Given the description of an element on the screen output the (x, y) to click on. 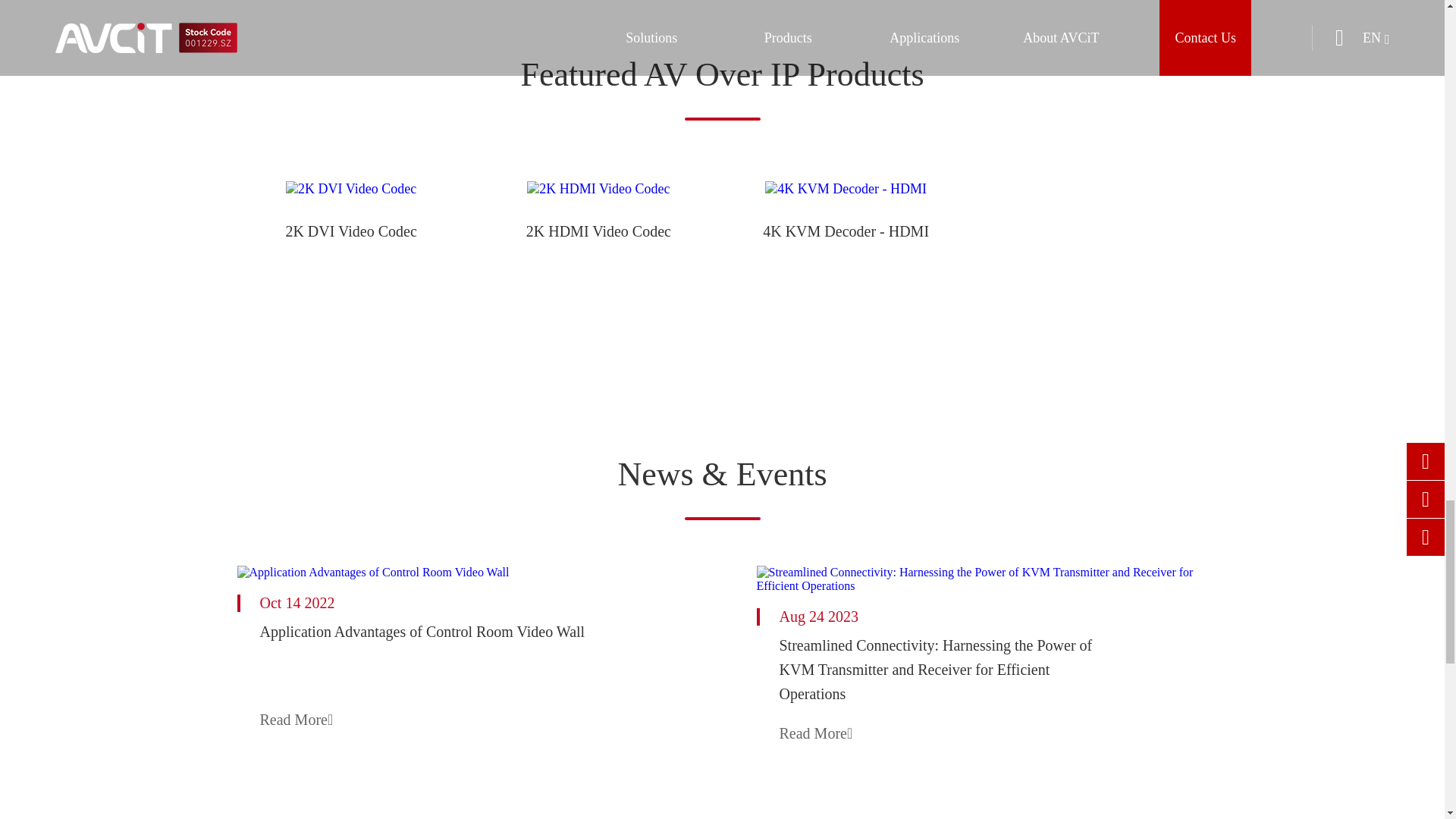
4K KVM Decoder - HDMI (845, 188)
2K HDMI Video Codec (598, 188)
2K DVI Video Codec (350, 188)
Application Advantages of Control Room Video Wall (461, 572)
